Given the description of an element on the screen output the (x, y) to click on. 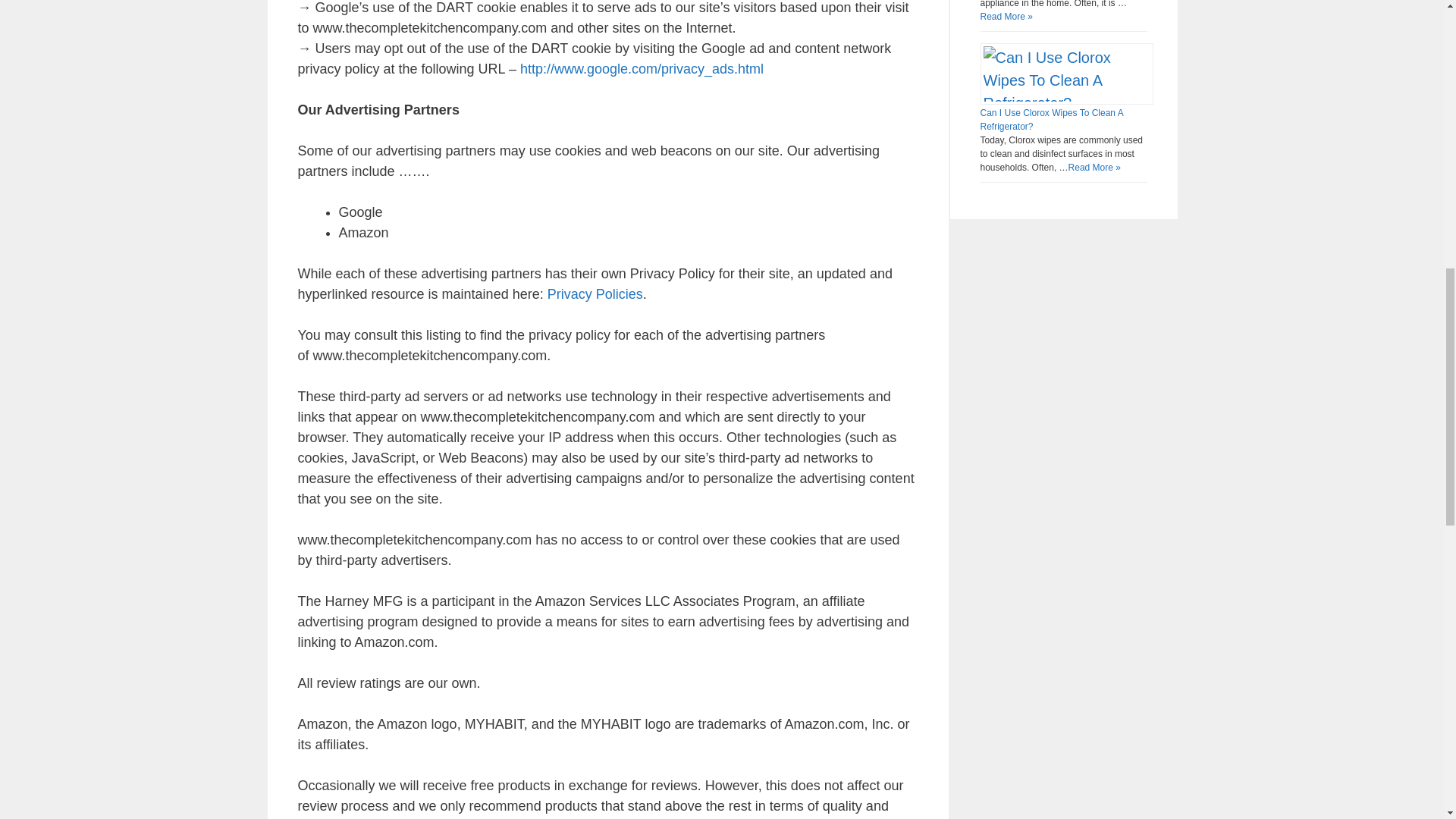
Opt out of the Dart Cookie (640, 68)
Can I Use Clorox Wipes To Clean A Refrigerator? (1050, 119)
Privacy Policies (595, 294)
